Given the description of an element on the screen output the (x, y) to click on. 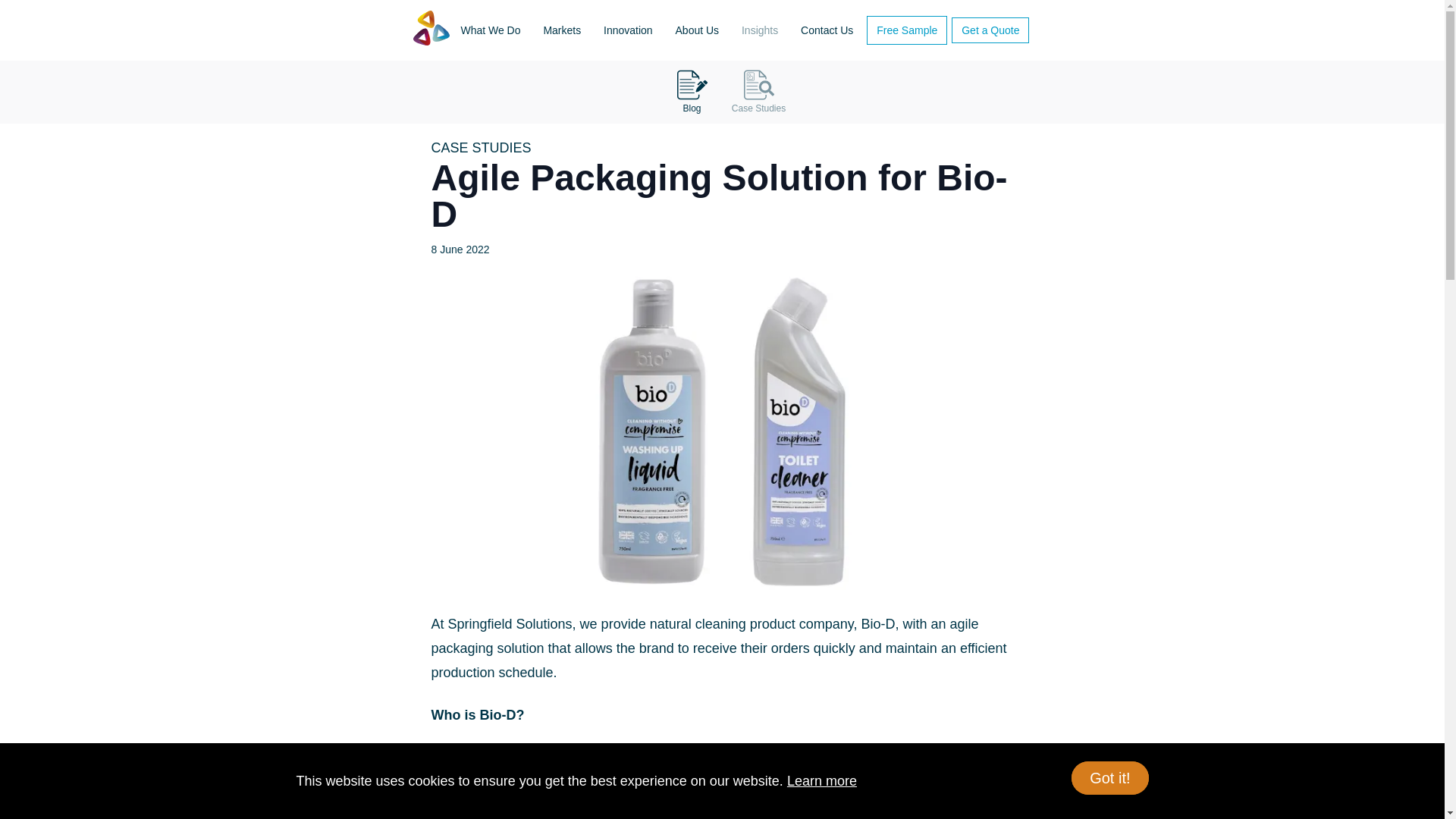
What We Do (490, 29)
Case Studies (755, 91)
Learn more (822, 780)
Blog (691, 91)
Insights (759, 29)
Blog (688, 91)
Contact Us (826, 29)
Markets (561, 29)
Innovation (628, 29)
Free Sample (906, 30)
Case Studies (758, 91)
Got it! (1109, 777)
Get a Quote (990, 30)
About Us (697, 29)
